Given the description of an element on the screen output the (x, y) to click on. 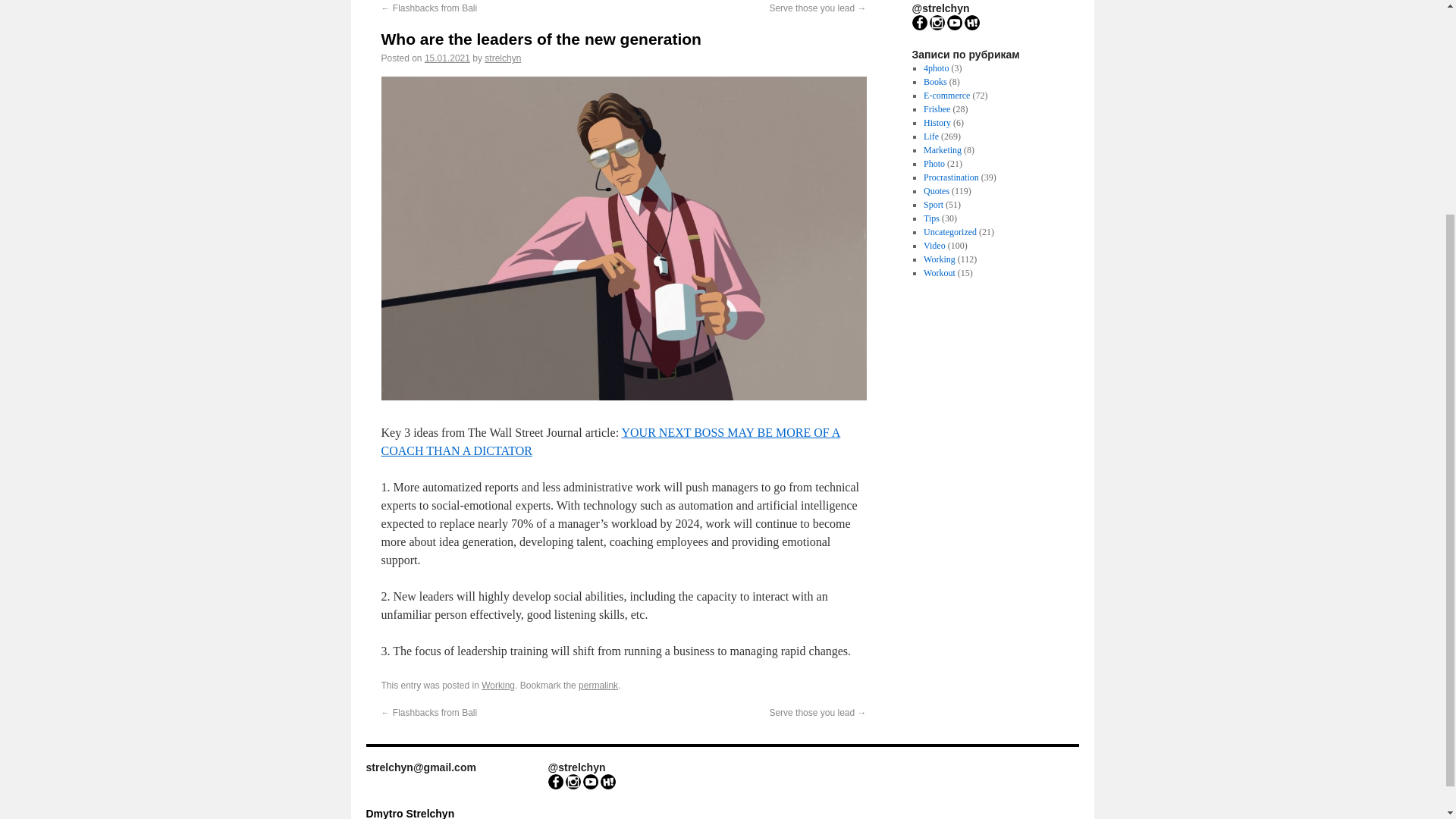
Video (933, 245)
Workout (939, 272)
Working (498, 685)
4photo (936, 68)
Procrastination (950, 176)
15.01.2021 (447, 58)
Working (939, 258)
04:22 (447, 58)
Tips (931, 217)
View all posts by strelchyn (502, 58)
